Given the description of an element on the screen output the (x, y) to click on. 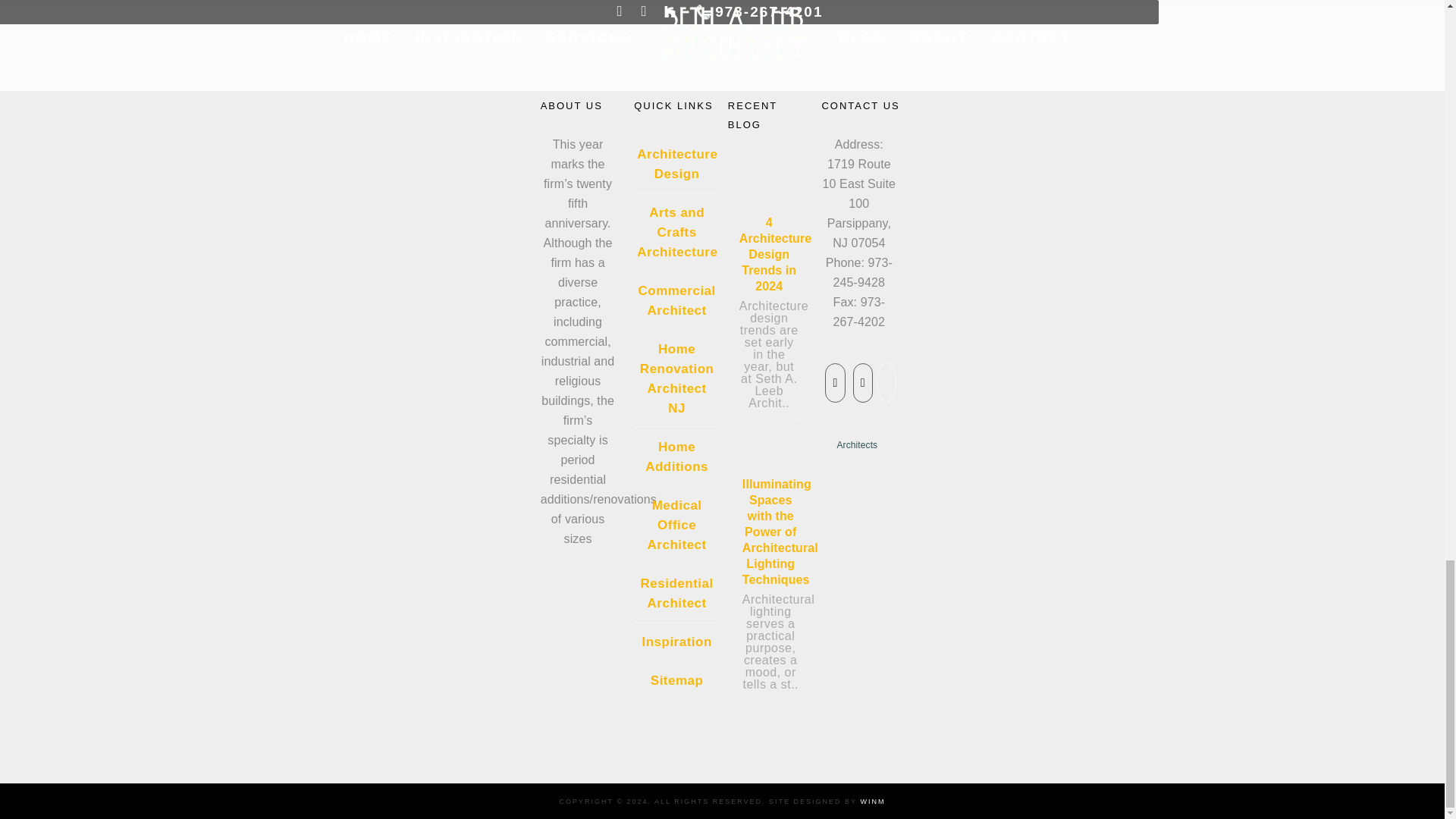
4 Architecture Design Trends in 2024 (763, 190)
